Given the description of an element on the screen output the (x, y) to click on. 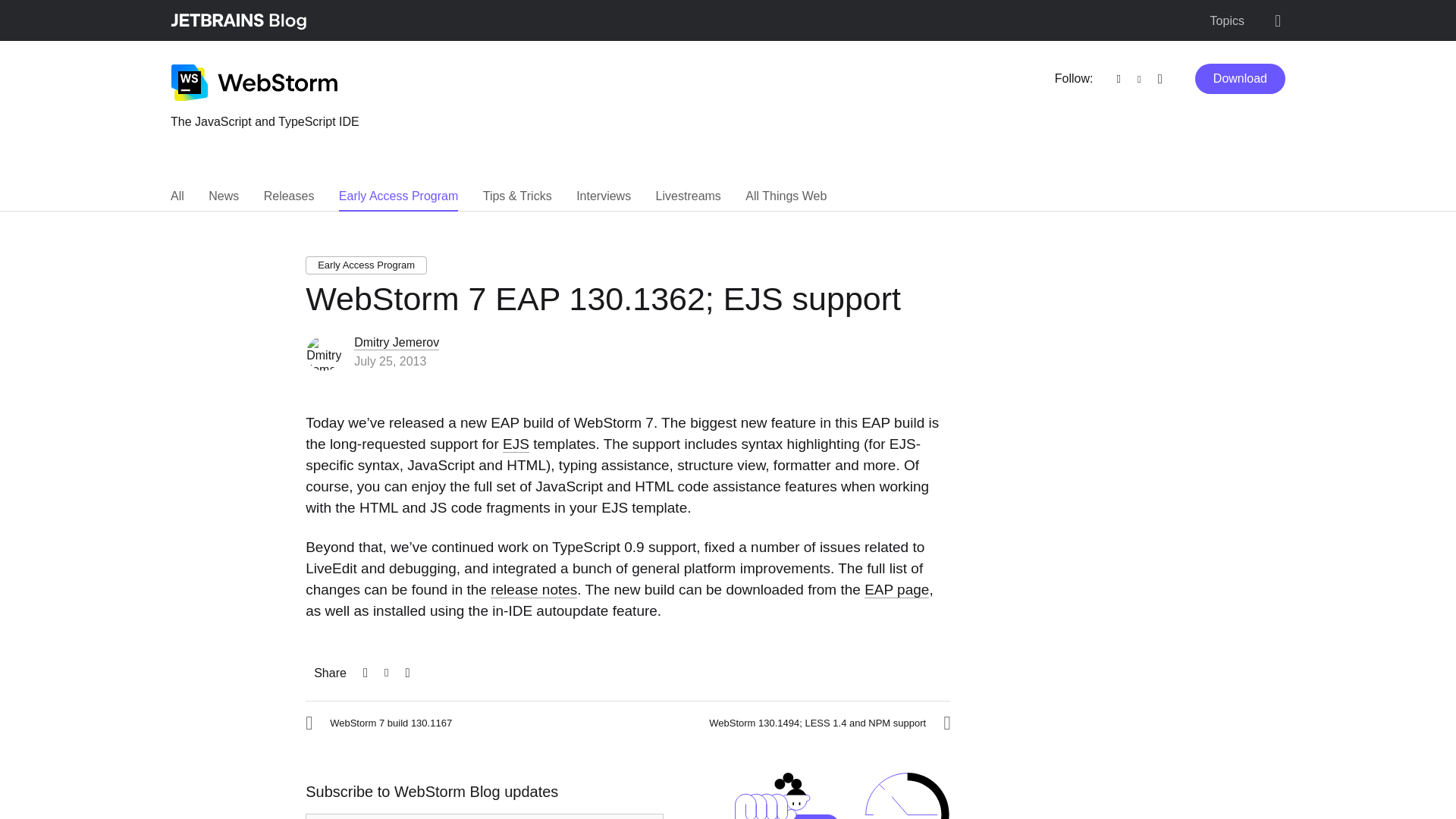
Topics (1226, 21)
